Given the description of an element on the screen output the (x, y) to click on. 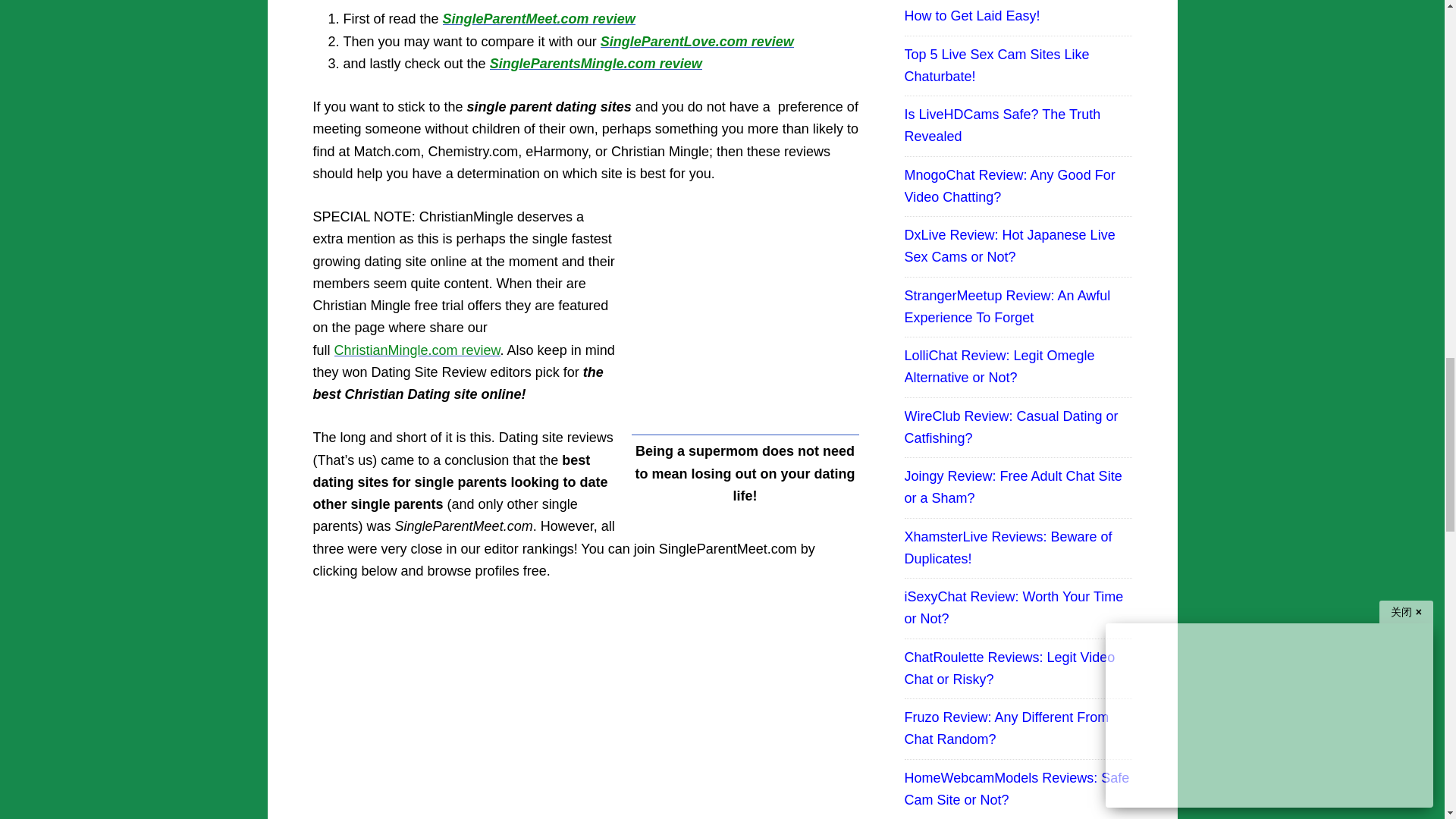
SingleParentsMingle.com review (595, 63)
SingleParentLove.com review (696, 41)
SingleParentsMingle.com review (595, 63)
ChristianMingle.com review (417, 350)
SingleParentLove.com review (696, 41)
SingleParentMeet.com review (538, 18)
ChristianMingle reviews (417, 350)
SingleParentMeet.com review (538, 18)
